Given the description of an element on the screen output the (x, y) to click on. 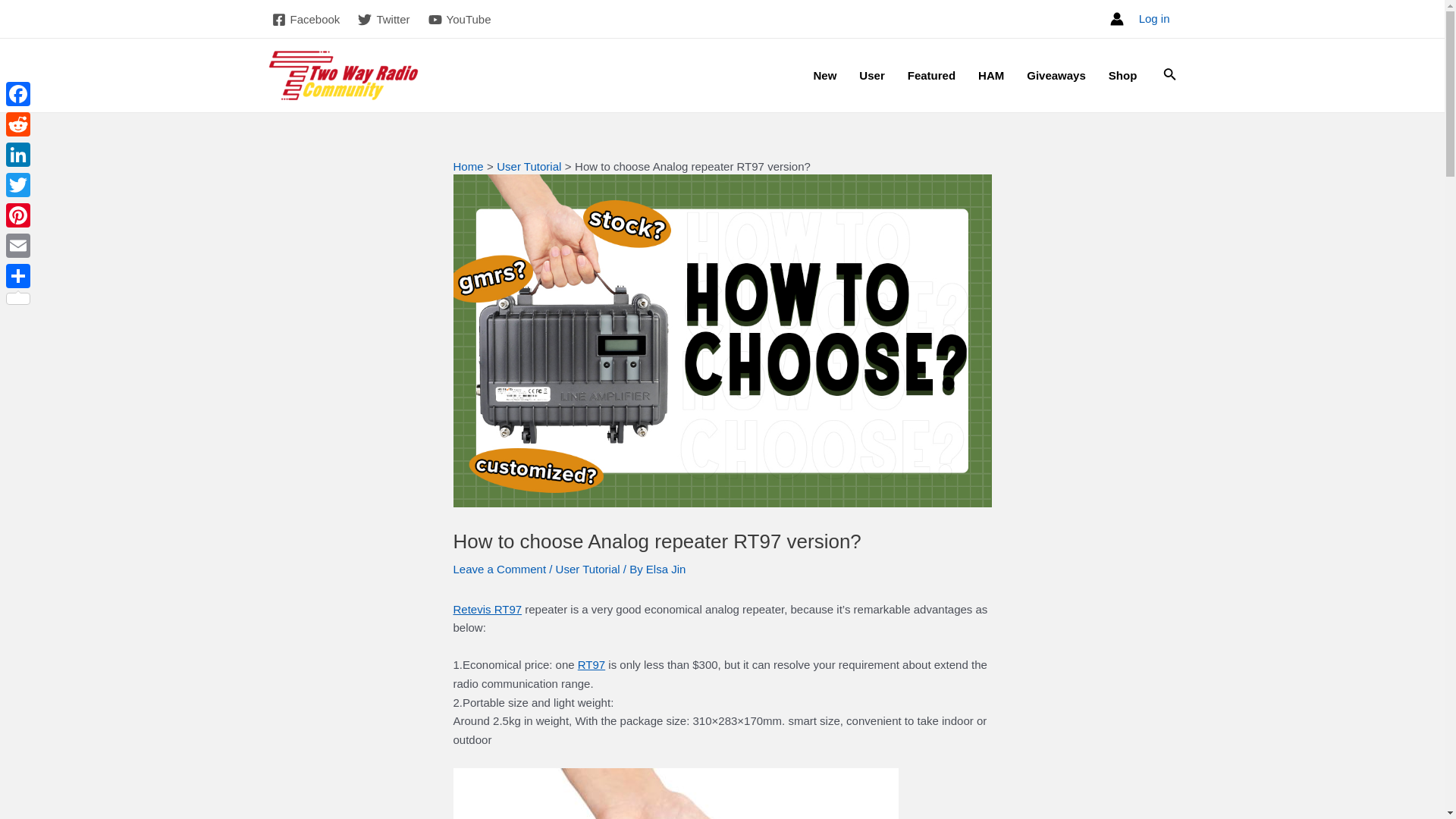
Twitter (383, 19)
Facebook (17, 93)
Log in (1154, 18)
Featured (931, 75)
Reddit (17, 123)
Giveaways (1055, 75)
View all posts by Elsa Jin (665, 568)
LinkedIn (17, 154)
YouTube (459, 19)
Facebook (304, 19)
